Given the description of an element on the screen output the (x, y) to click on. 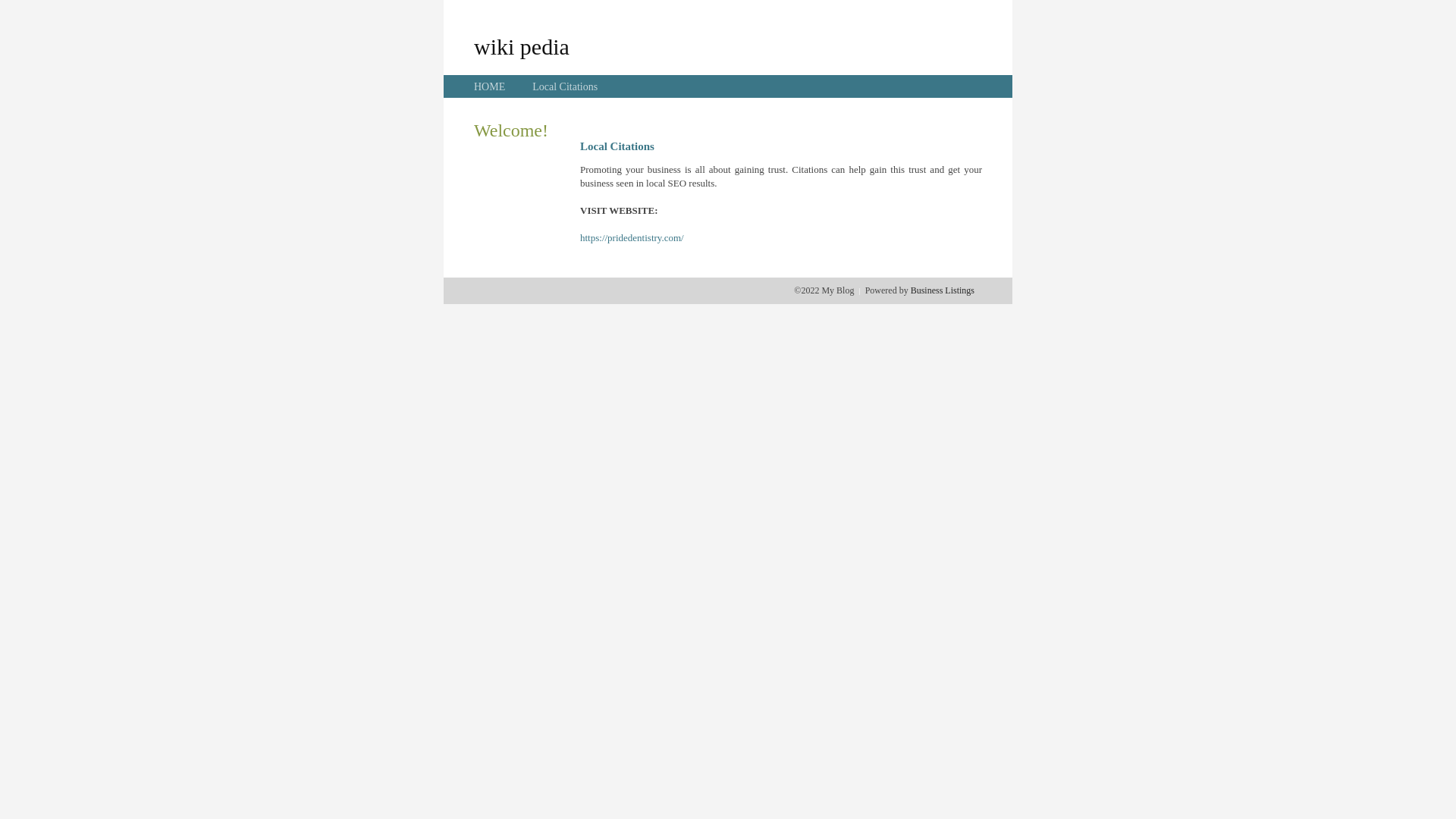
Local Citations Element type: text (564, 86)
HOME Element type: text (489, 86)
Business Listings Element type: text (942, 290)
https://pridedentistry.com/ Element type: text (632, 237)
wiki pedia Element type: text (521, 46)
